Given the description of an element on the screen output the (x, y) to click on. 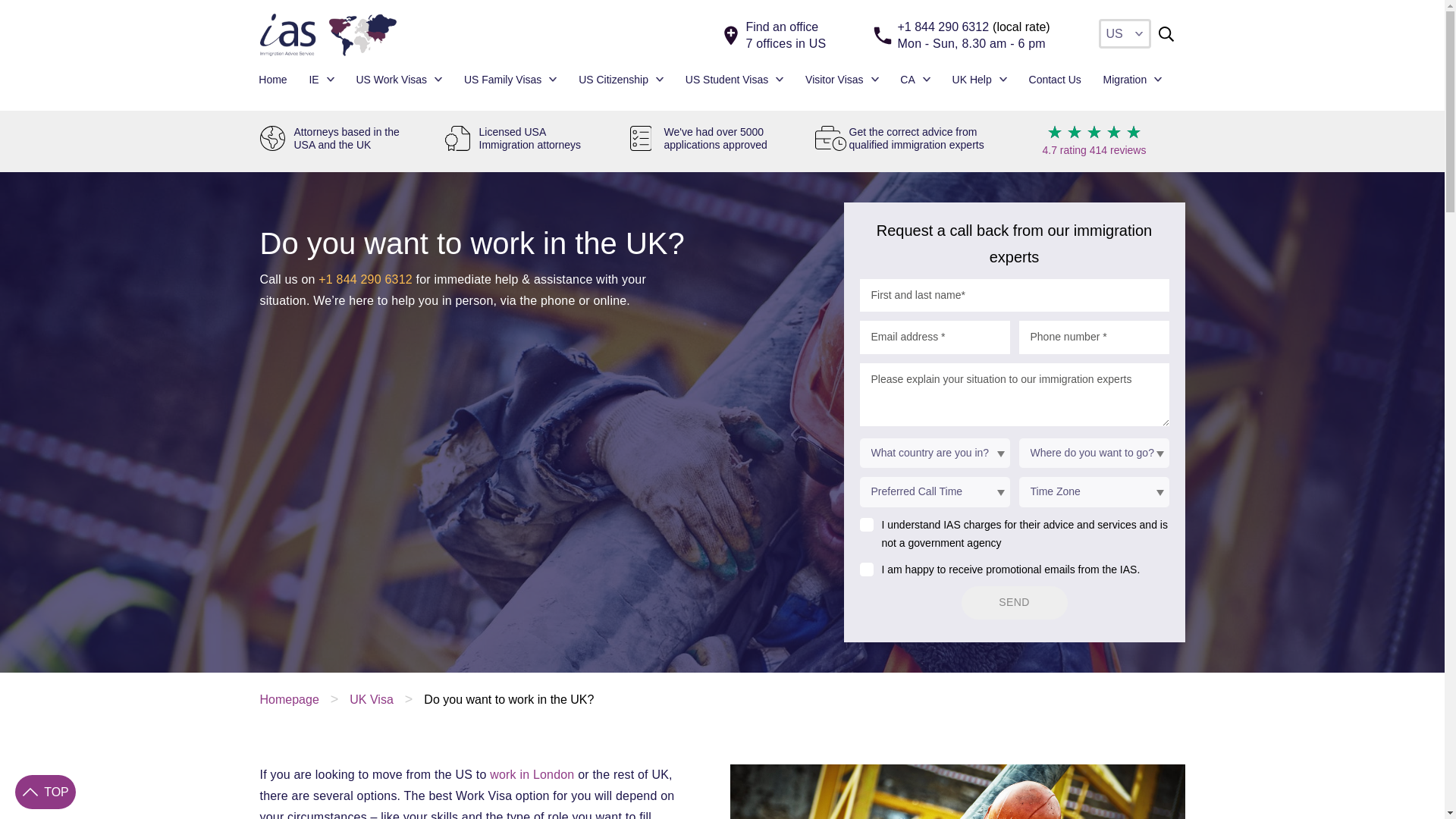
Do you want to work in the UK? (508, 698)
SEND (1013, 602)
UK Visa (371, 698)
Find an office (783, 26)
IE (320, 79)
Homepage (288, 698)
Home (272, 79)
